Given the description of an element on the screen output the (x, y) to click on. 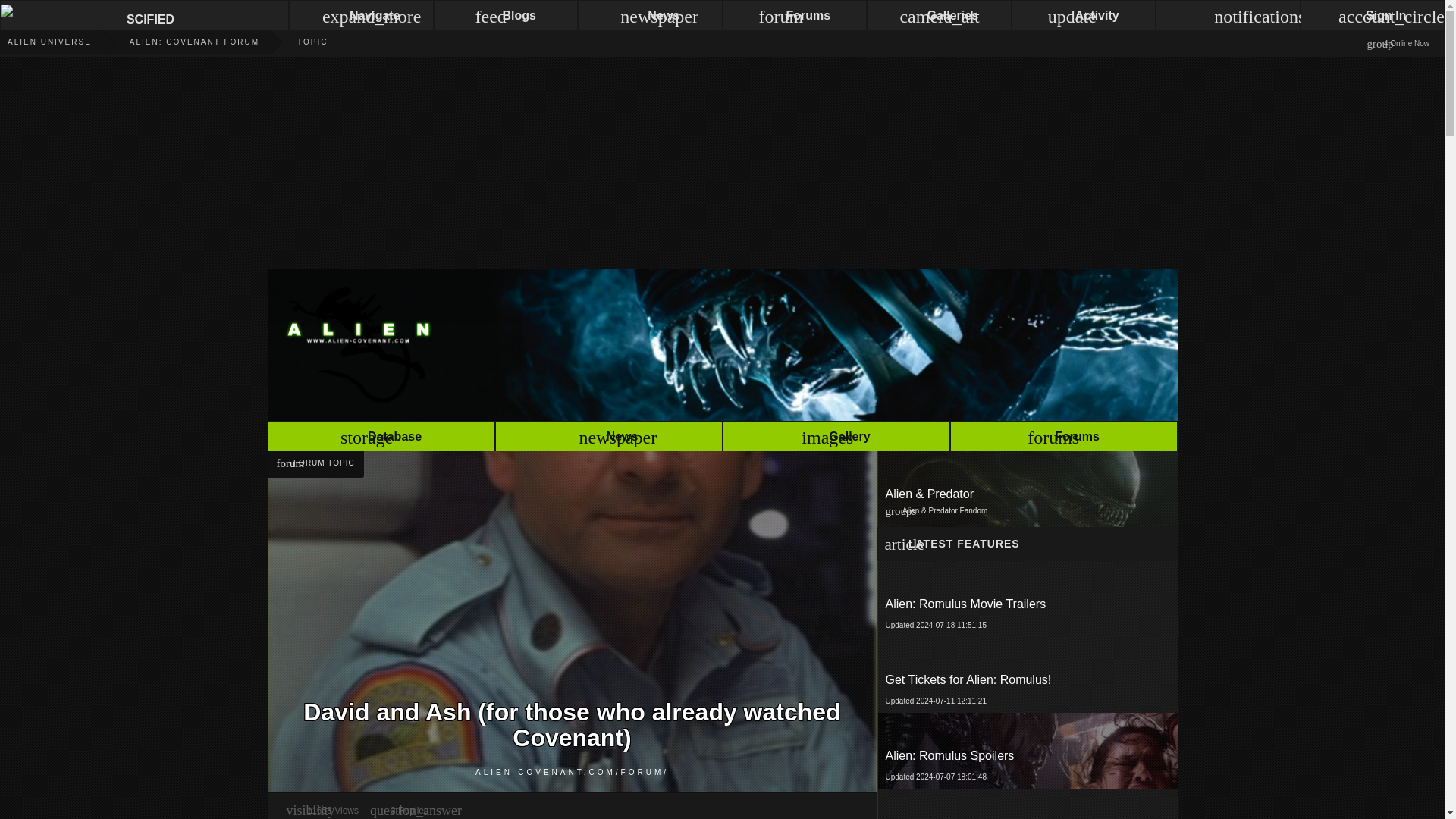
Gallery (835, 438)
ALIEN: COVENANT FORUM (175, 42)
Get Tickets for Alien: Romulus! (1027, 679)
Alien Movie Universe Image Galleries (835, 438)
Alien Movie Universe Info Database (1026, 750)
Everything we know about Alien: Romulus (380, 438)
Open the Alien Movie Universe Forums (1026, 674)
Alien: Romulus Movie Trailers (1062, 438)
Latest Alien Movie Universe news (380, 438)
